Given the description of an element on the screen output the (x, y) to click on. 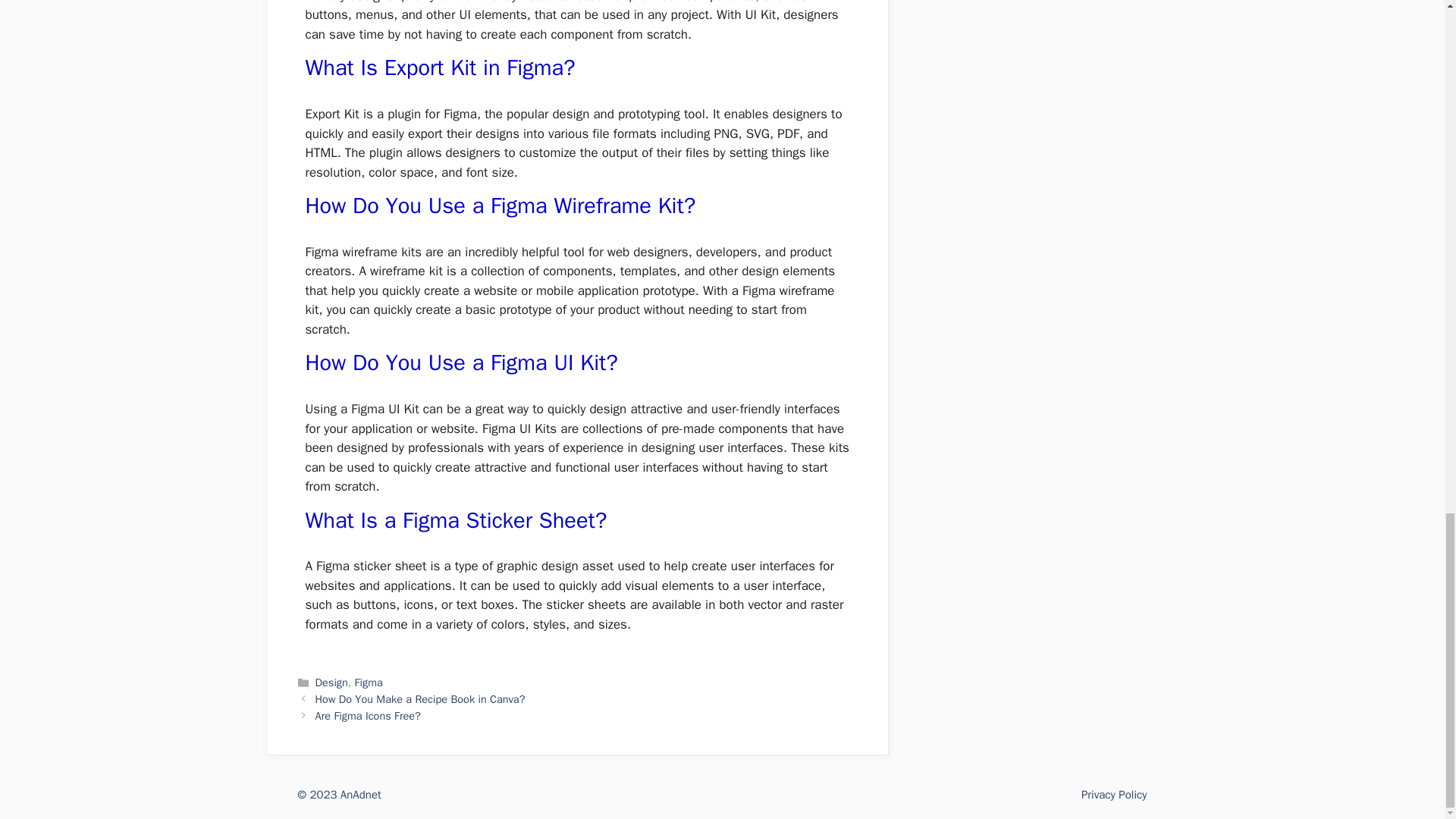
Design (331, 682)
What Is a Figma Sticker Sheet? (455, 520)
Privacy Policy (1114, 794)
How Do You Use a Figma Wireframe Kit? (499, 205)
What Is Export Kit in Figma? (439, 67)
Are Figma Icons Free? (367, 715)
How Do You Make a Recipe Book in Canva? (420, 698)
How Do You Use a Figma UI Kit? (460, 362)
Figma (368, 682)
